Given the description of an element on the screen output the (x, y) to click on. 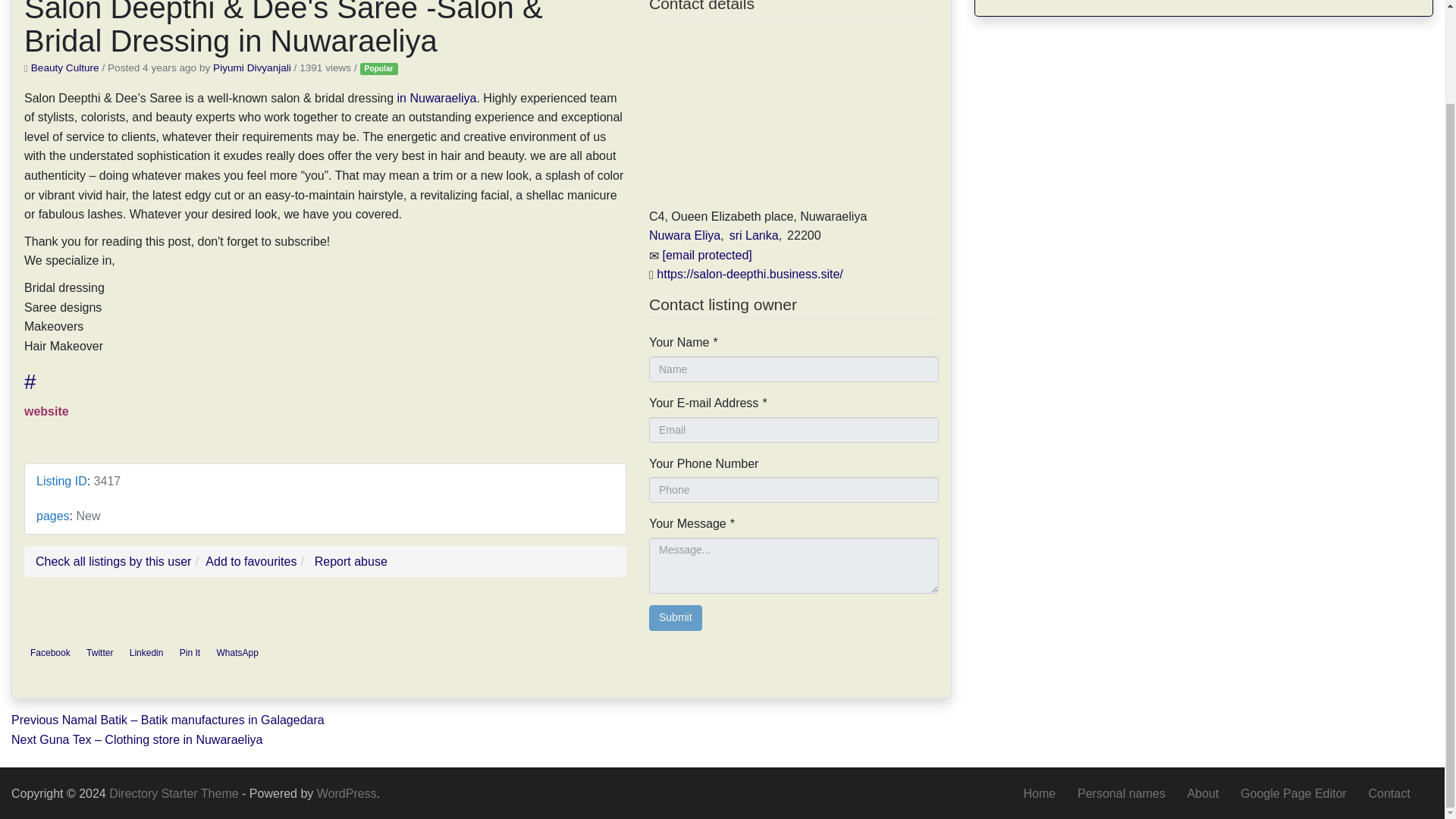
in Nuwaraeliya (437, 97)
Beauty Culture (64, 67)
website (46, 410)
Twitter (99, 652)
WordPress (347, 793)
Directory Starter (175, 793)
Linkedin (146, 652)
Report abuse (350, 561)
WhatsApp (236, 652)
Piyumi Divyanjali (251, 67)
